Given the description of an element on the screen output the (x, y) to click on. 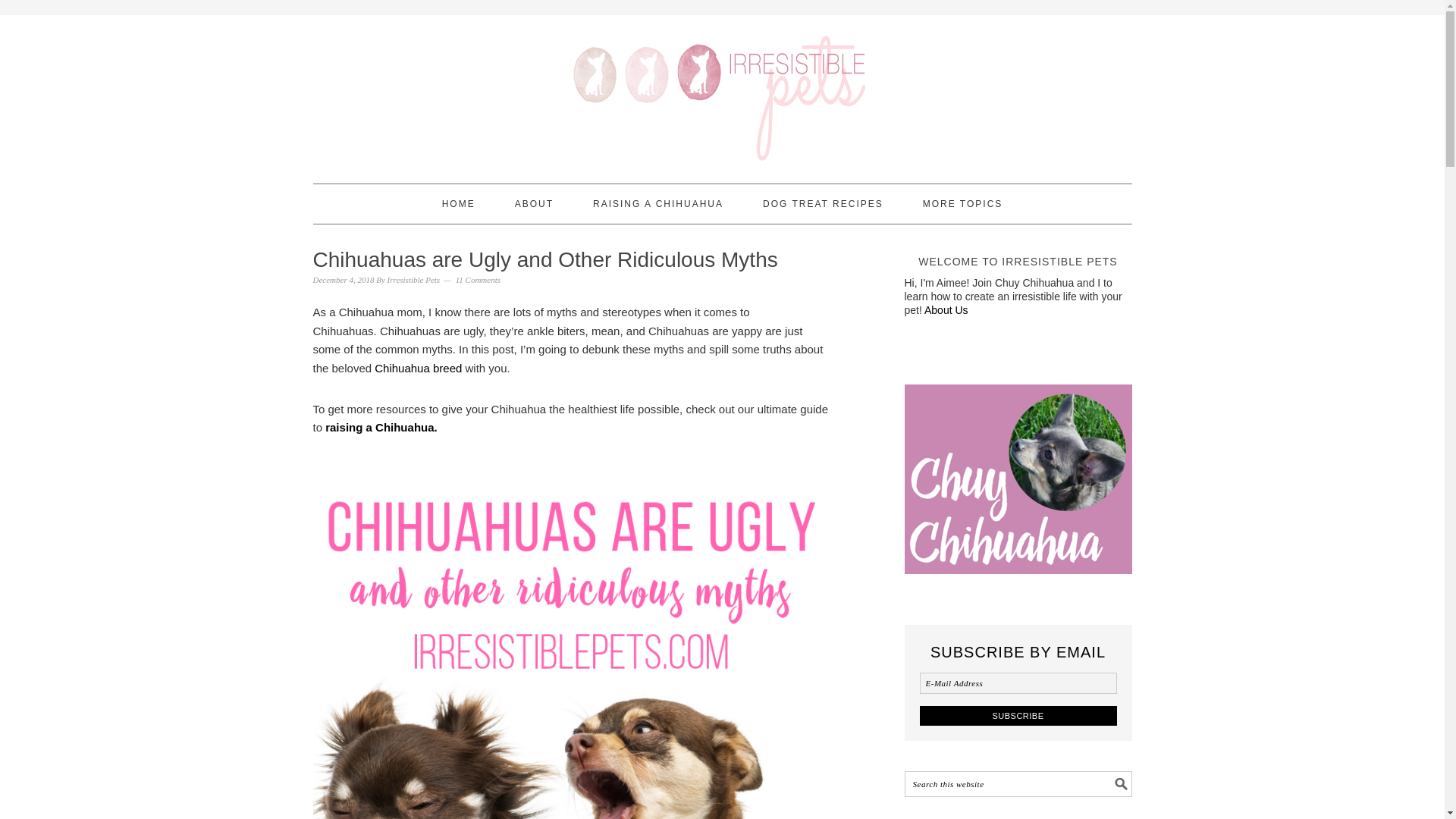
raising a Chihuahua. (381, 427)
RAISING A CHIHUAHUA (657, 203)
Irresistible Pets (414, 279)
11 Comments (477, 279)
Subscribe (1017, 714)
IRRESISTIBLE PETS (722, 92)
DOG TREAT RECIPES (823, 203)
Chihuahua breed (417, 367)
HOME (459, 203)
MORE TOPICS (963, 203)
ABOUT (534, 203)
